Given the description of an element on the screen output the (x, y) to click on. 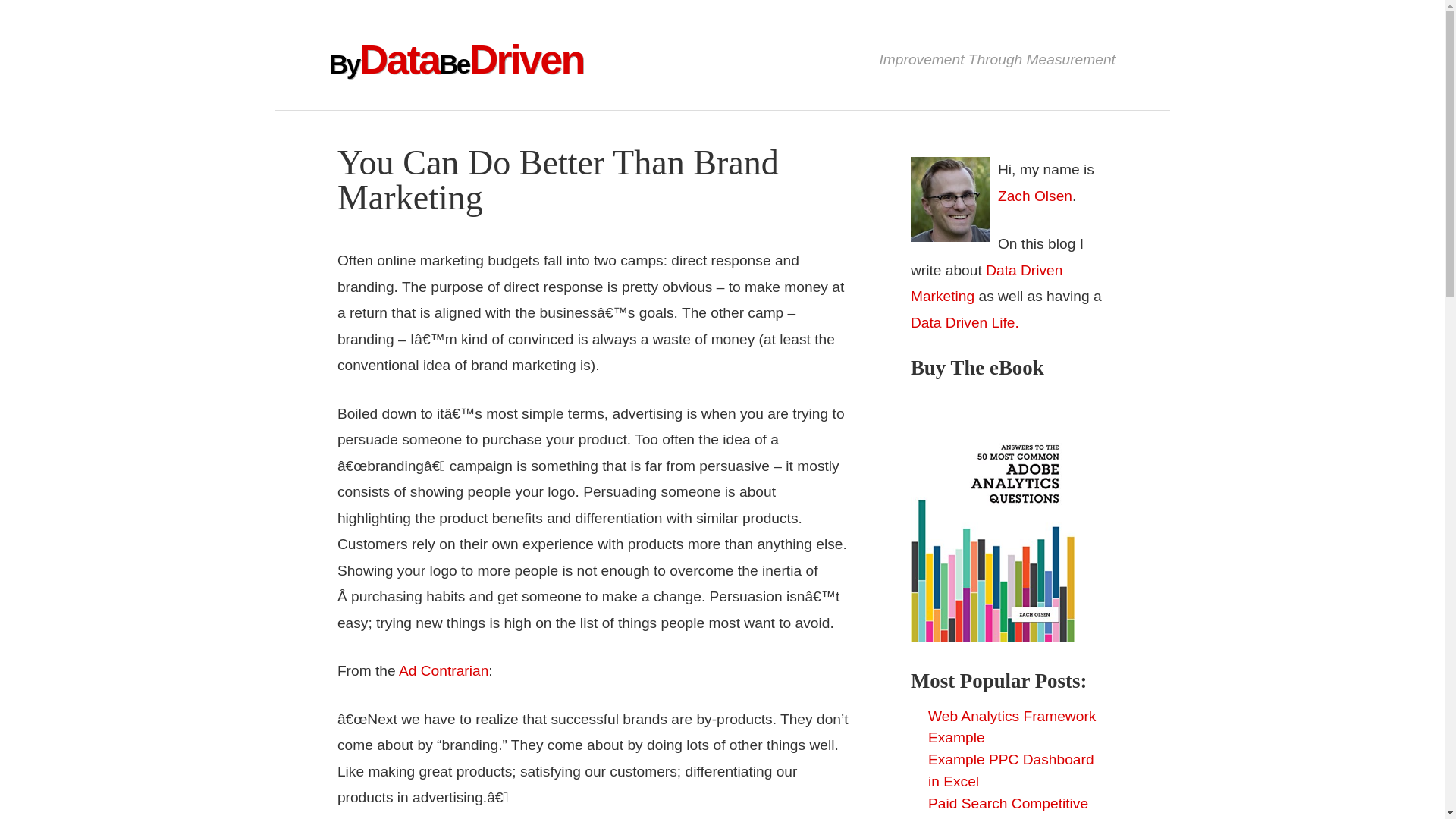
Web Analytics Framework Example (1012, 727)
ByDataBeDriven (456, 58)
By Data Be Driven (456, 58)
Data Driven Marketing (986, 283)
Example PPC Dashboard in Excel (1011, 770)
Web Analytics Framework Example (1012, 727)
Zach Olsen (1034, 195)
Data Driven Life. (965, 322)
Example PPC Dashboard in Excel (1011, 770)
Ad Contrarian (442, 670)
